Given the description of an element on the screen output the (x, y) to click on. 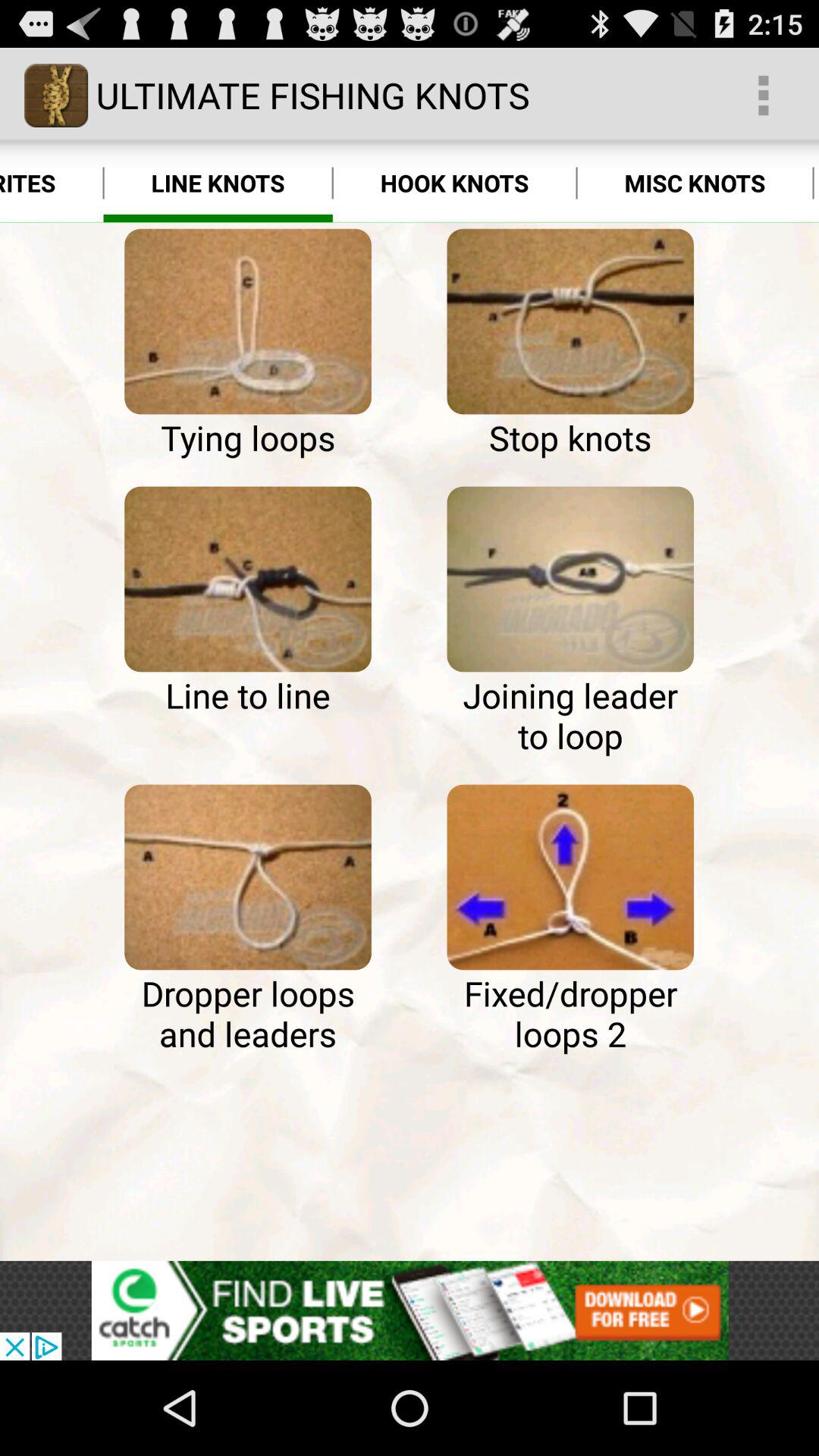
install application (409, 1310)
